Given the description of an element on the screen output the (x, y) to click on. 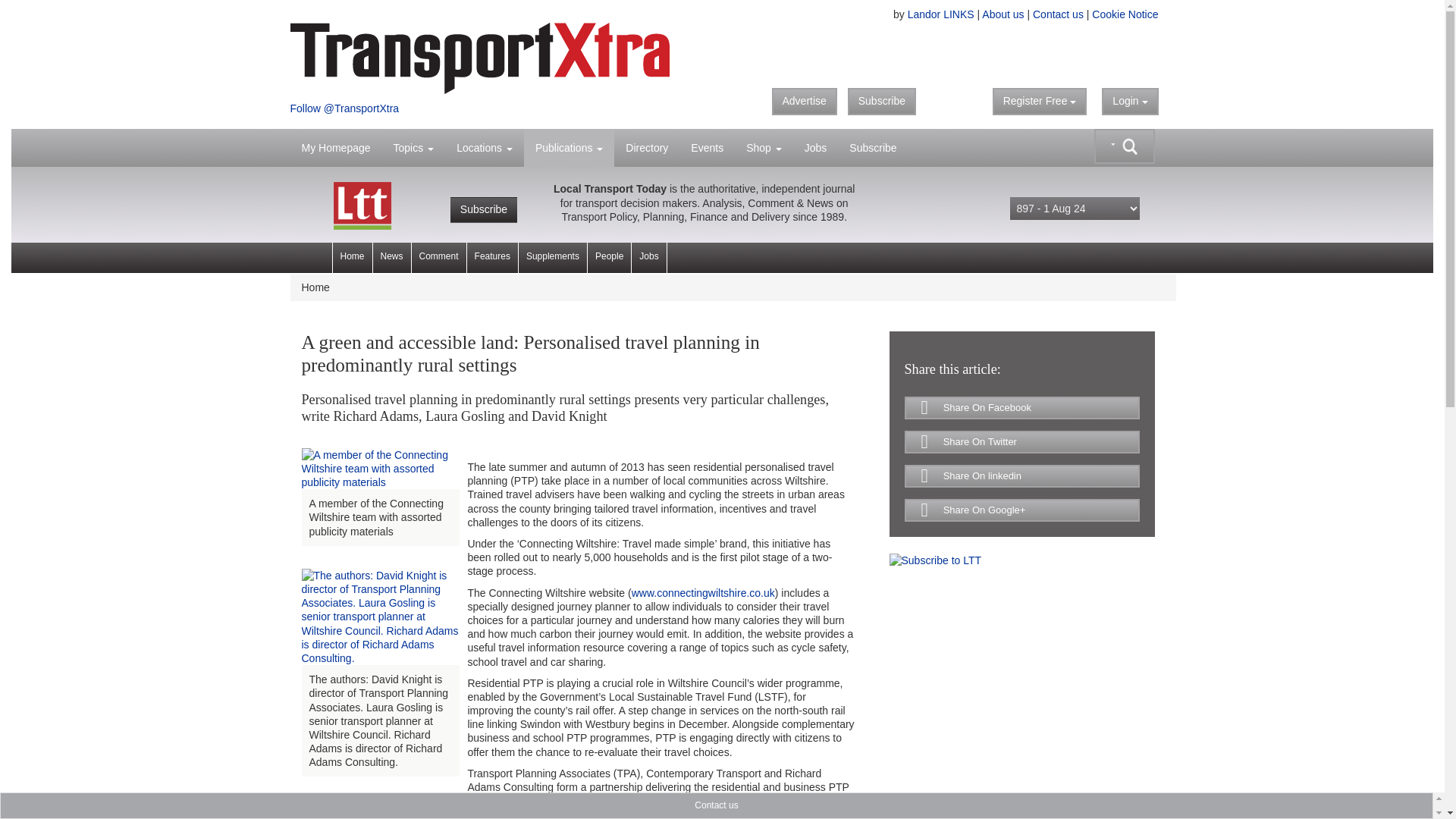
Topics (413, 147)
Landor LINKS (940, 14)
Login (1129, 101)
Contact us (1057, 14)
Subscribe to LTT (934, 558)
My Homepage (335, 147)
TransportXtra (499, 57)
Subscribe (881, 101)
